Given the description of an element on the screen output the (x, y) to click on. 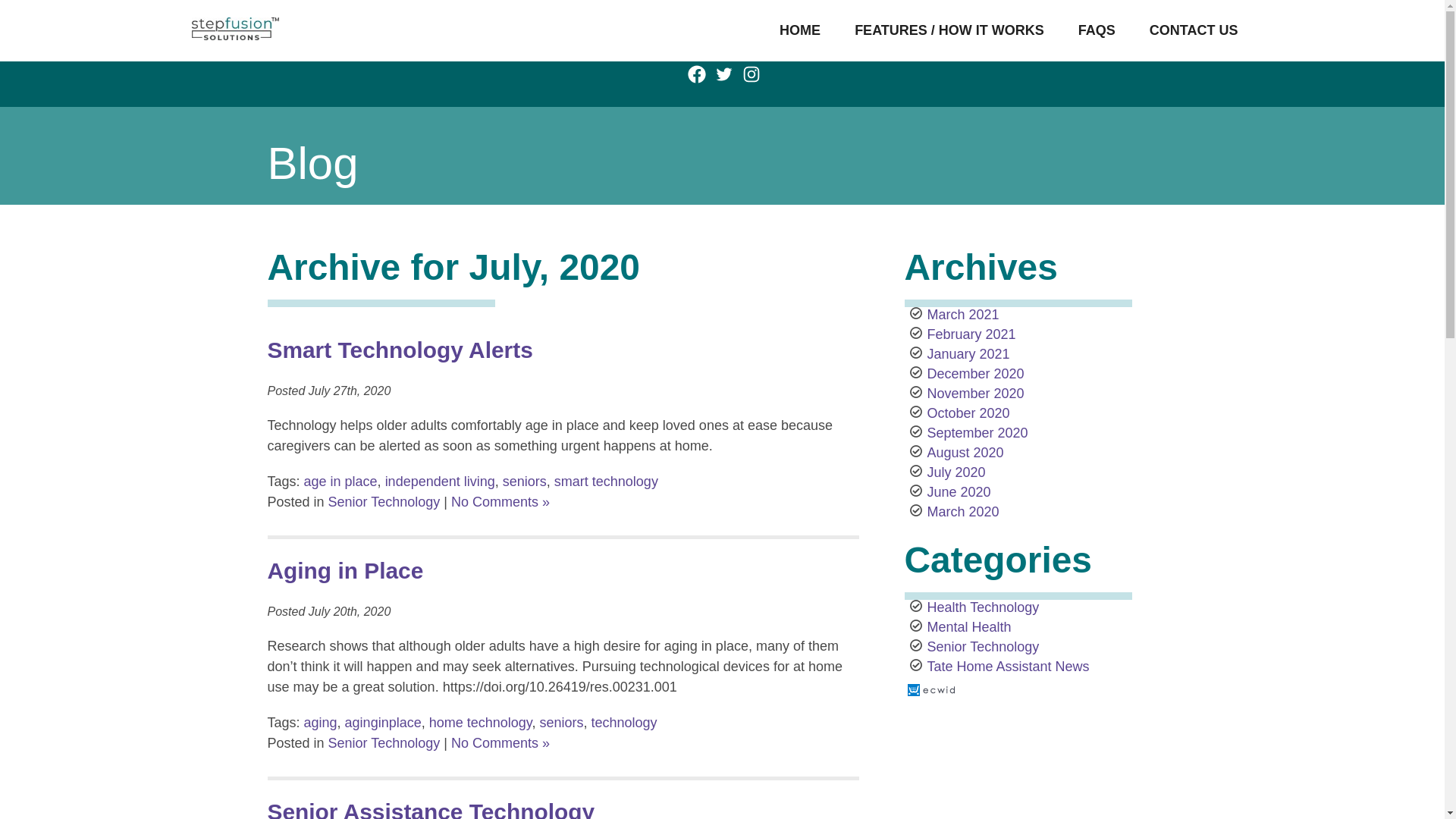
seniors (524, 481)
Smart Technology Alerts (399, 349)
Senior Assistance Technology (430, 809)
Senior Technology (385, 501)
aginginplace (383, 722)
seniors (560, 722)
technology (624, 722)
CONTACT US (1193, 30)
Aging in Place (344, 570)
